Given the description of an element on the screen output the (x, y) to click on. 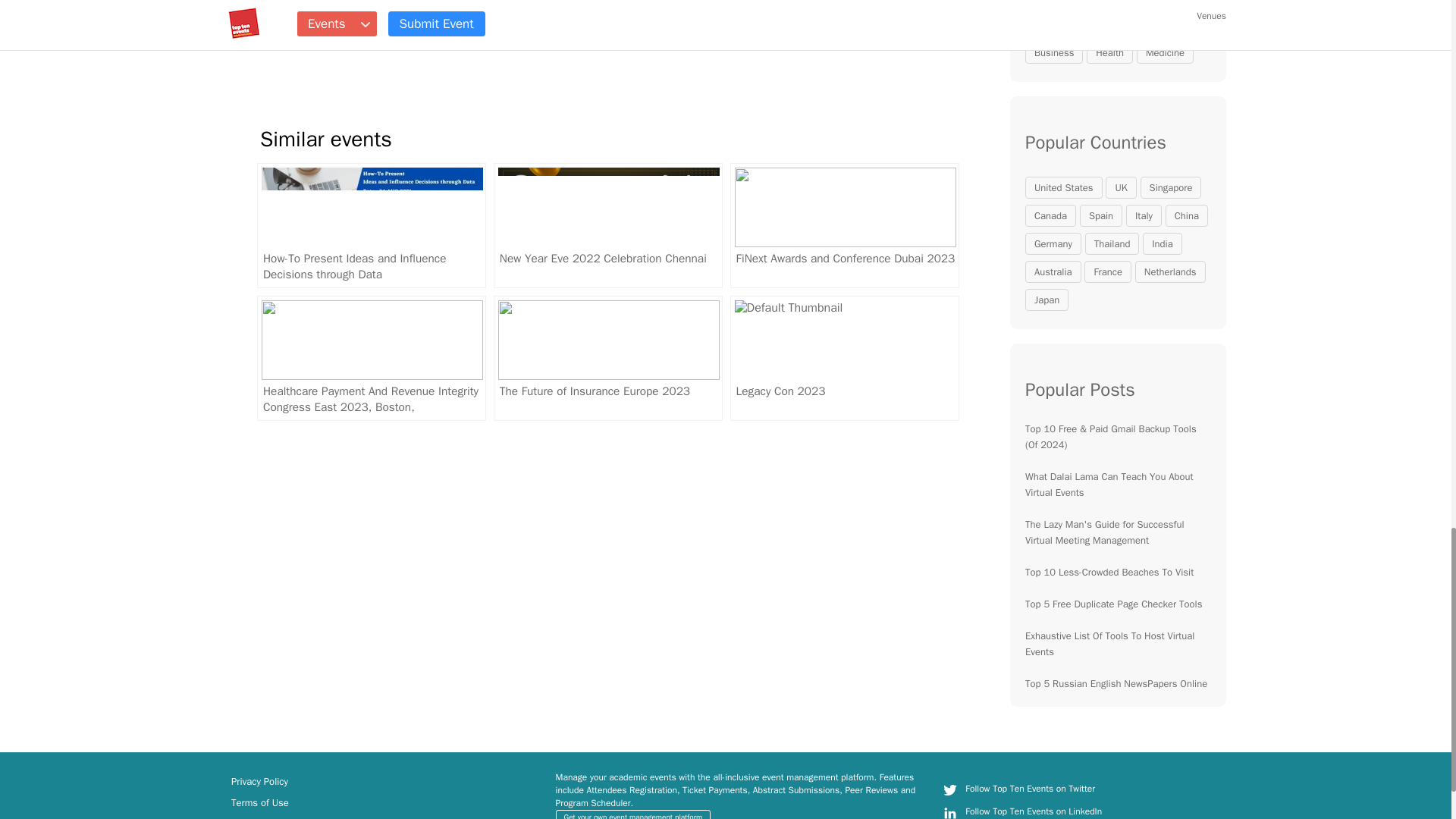
The Future of Insurance Europe 2023 (607, 357)
Legacy Con 2023 (844, 357)
FiNext Awards and Conference Dubai 2023 (844, 225)
dryfta-t (950, 789)
How-To Present Ideas and Influence Decisions through Data (371, 225)
New Year Eve 2022 Celebration Chennai (607, 225)
dryfta-t (950, 812)
